Given the description of an element on the screen output the (x, y) to click on. 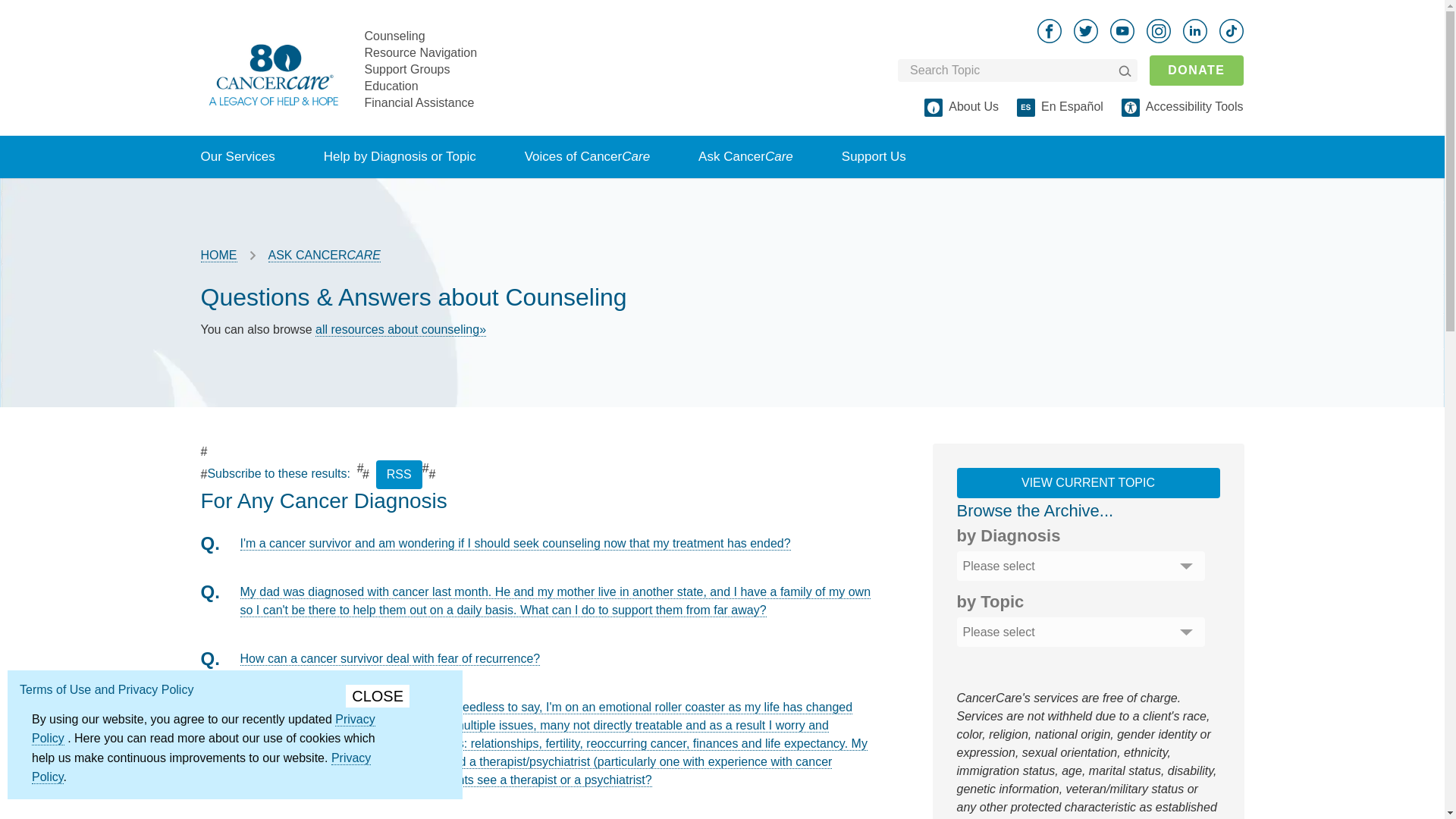
Financial Assistance (419, 101)
Resource Navigation (420, 51)
Instagram (1158, 30)
Counseling (394, 34)
Twitter (1085, 30)
Tap or click here to open our Tiktok page in a new window (1231, 30)
Tap or click here to open our Facebook page in a new window (1048, 30)
Tap or click here to open our Instagram page in a new window (1158, 30)
YouTube (1121, 30)
Tap or click here to open our LinkedIn page in a new window (1194, 30)
Our Services (237, 156)
Education (390, 84)
Tap or click here to open our YouTube page in a new window (1121, 30)
About Us (973, 106)
Support Groups (406, 68)
